Given the description of an element on the screen output the (x, y) to click on. 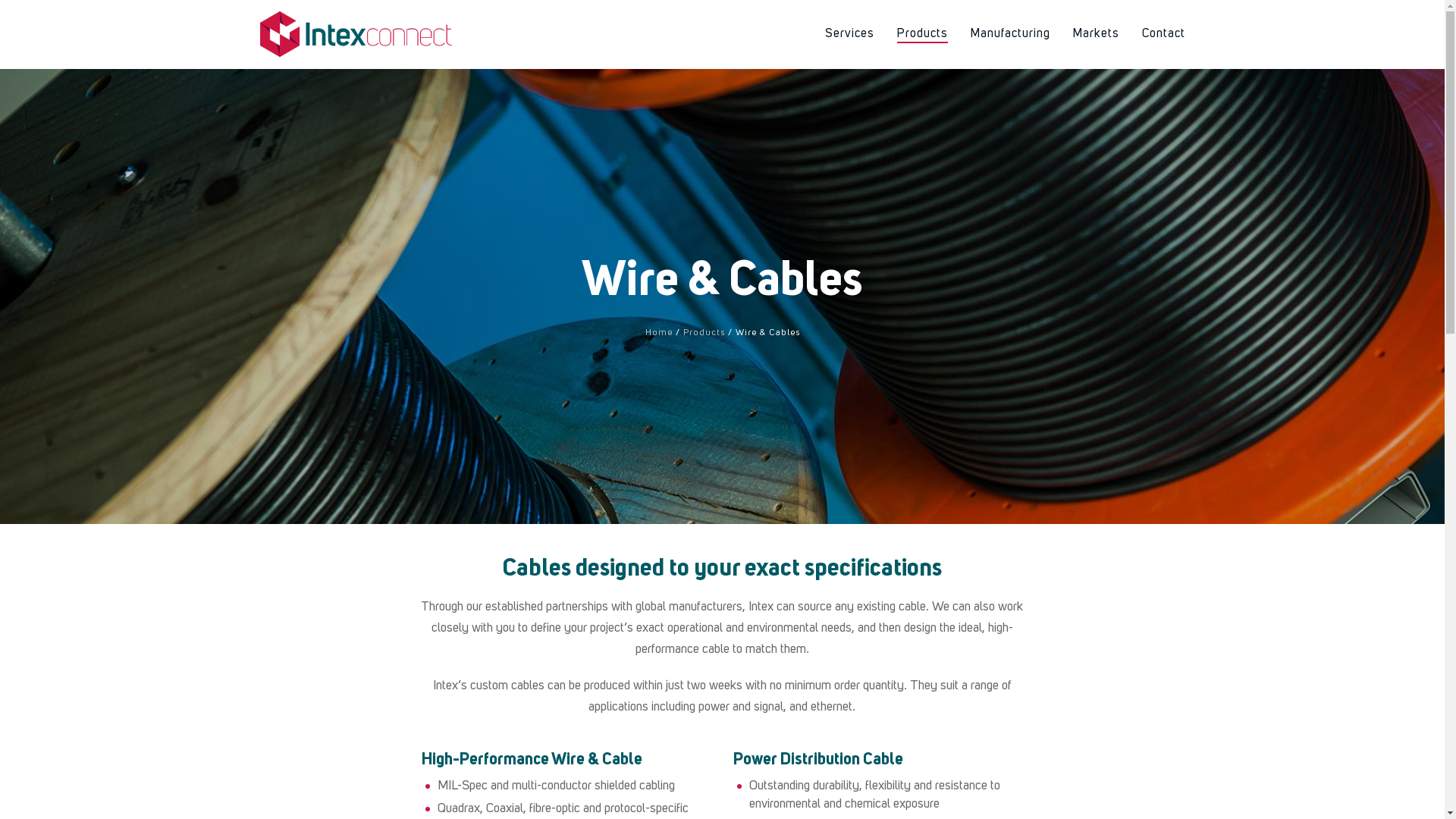
Products Element type: text (922, 34)
Services Element type: text (848, 34)
Manufacturing Element type: text (1009, 34)
Home Element type: text (657, 332)
Products Element type: text (703, 332)
Contact Element type: text (1162, 34)
Markets Element type: text (1095, 34)
We think differently. Element type: hover (355, 34)
